Given the description of an element on the screen output the (x, y) to click on. 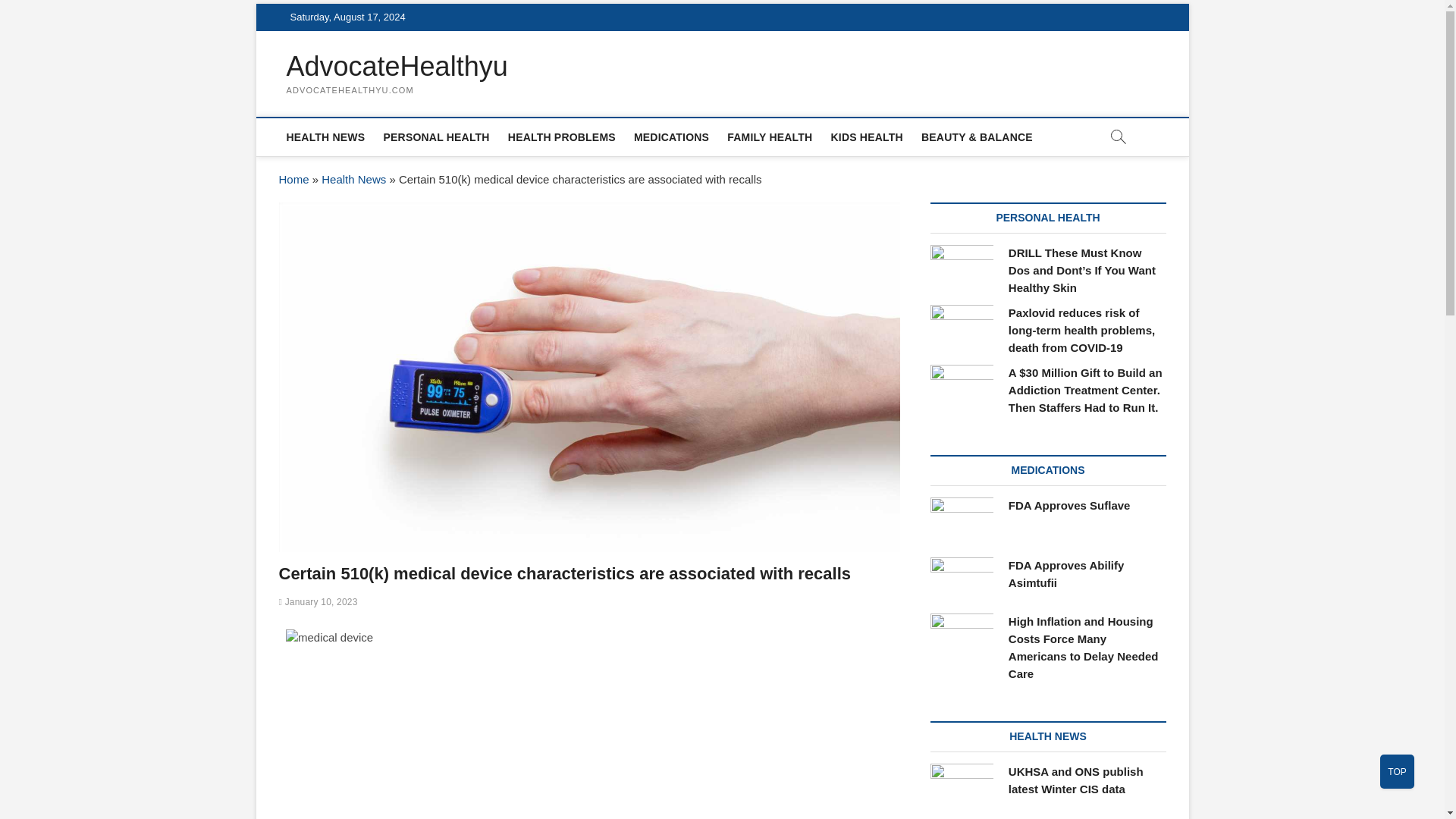
MEDICATIONS (671, 136)
Home (293, 178)
FDA Approves Abilify Asimtufii (1066, 573)
FDA Approves Suflave (961, 519)
FDA Approves Suflave (1070, 504)
FDA Approves Suflave (1070, 504)
January 10, 2023 (318, 602)
